Given the description of an element on the screen output the (x, y) to click on. 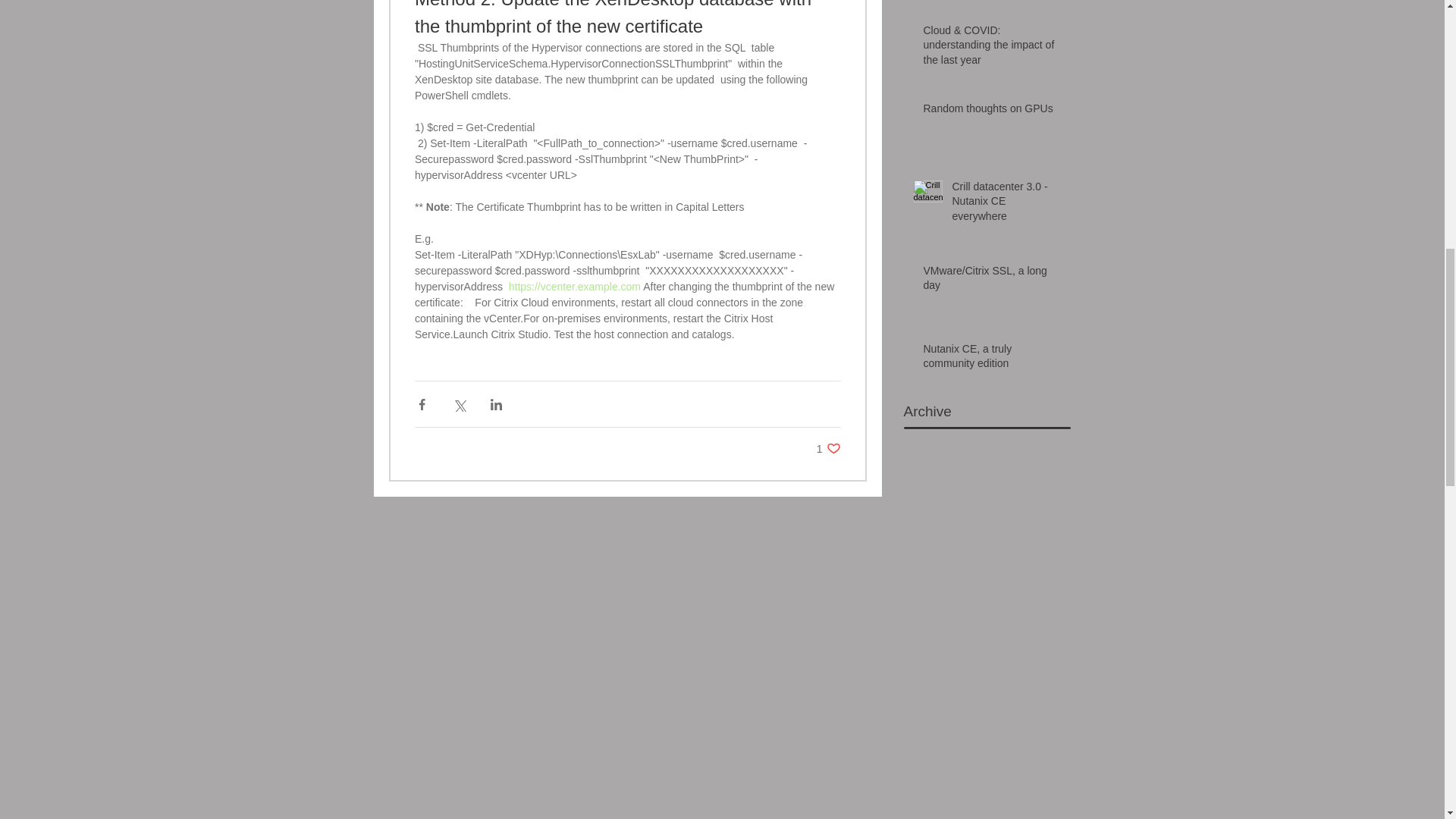
Random thoughts on GPUs (992, 111)
Nutanix CE, a truly community edition (828, 448)
Crill datacenter 3.0 - Nutanix CE everywhere (992, 359)
